Given the description of an element on the screen output the (x, y) to click on. 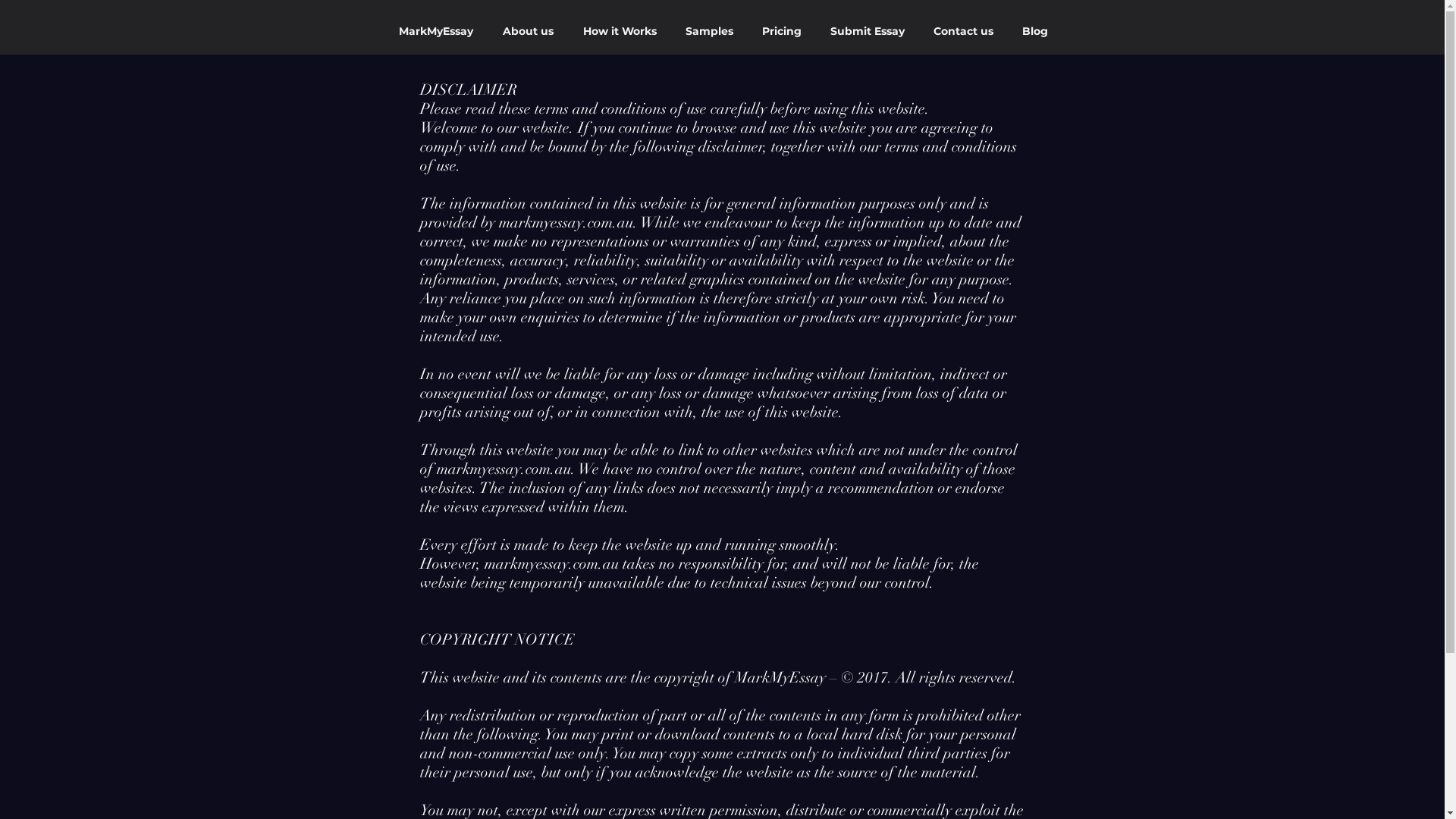
Pricing Element type: text (781, 31)
Blog Element type: text (1035, 31)
MarkMyEssay Element type: text (436, 31)
Samples Element type: text (709, 31)
Contact us Element type: text (963, 31)
Submit Essay Element type: text (867, 31)
How it Works Element type: text (619, 31)
About us Element type: text (527, 31)
